Given the description of an element on the screen output the (x, y) to click on. 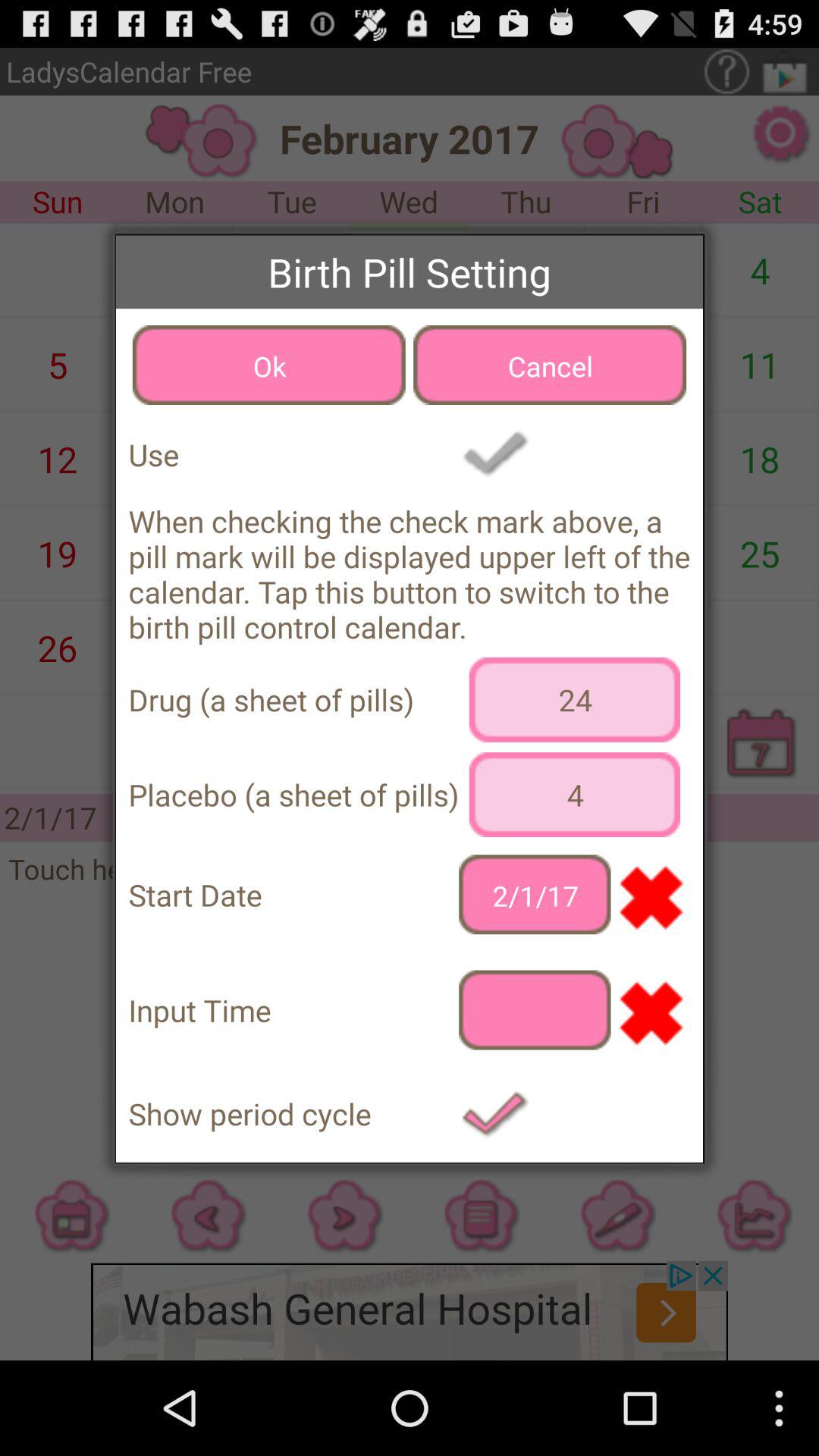
open icon below birth pill setting item (268, 364)
